Given the description of an element on the screen output the (x, y) to click on. 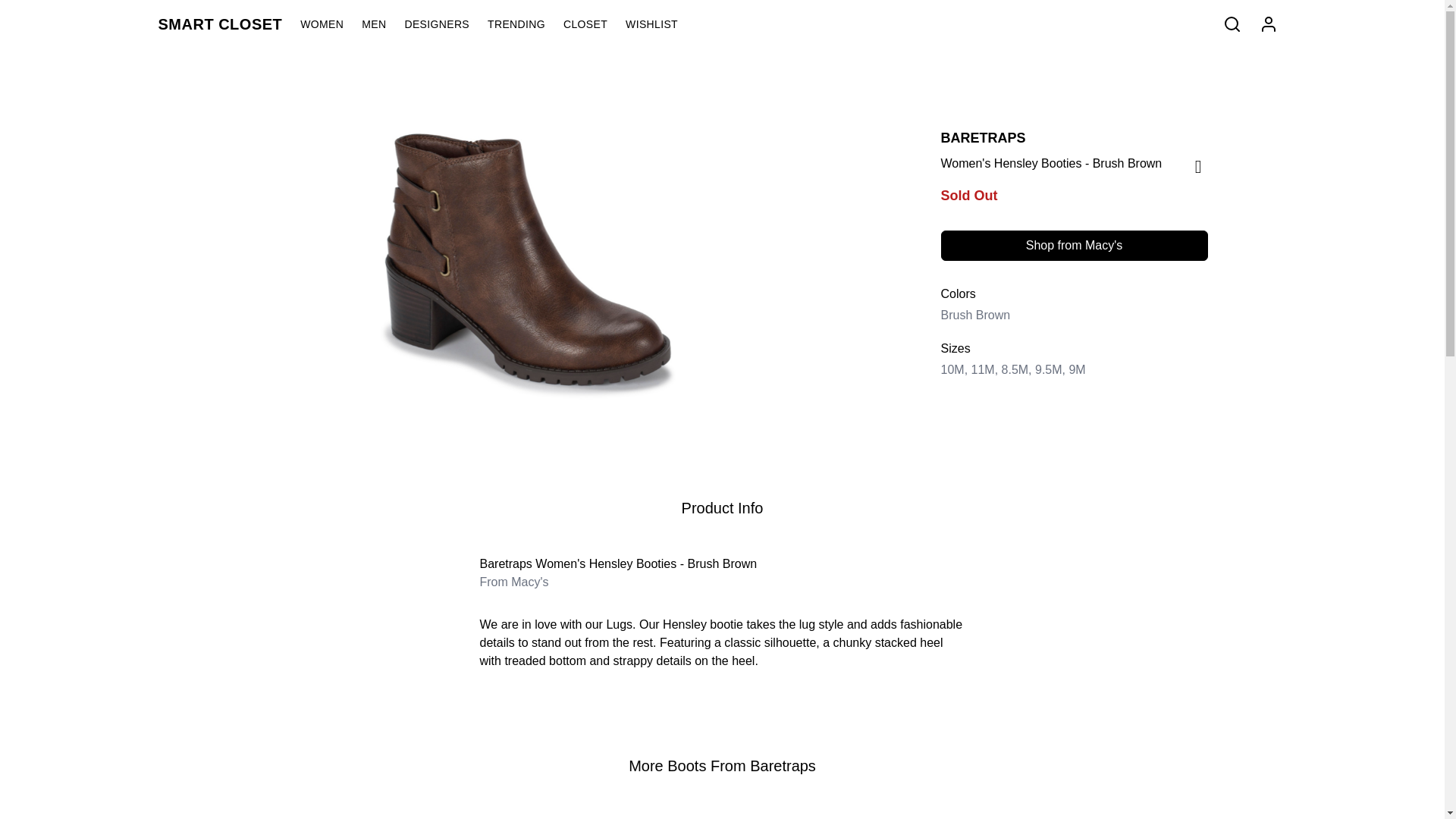
SMART CLOSET (228, 24)
MEN (382, 23)
WOMEN (330, 23)
TRENDING (525, 23)
DESIGNERS (445, 23)
BARETRAPS (982, 137)
Shop from Macy's (1073, 245)
More Boots From Baretraps (721, 765)
WISHLIST (660, 23)
Shop from Macy's (1073, 245)
CLOSET (594, 23)
